Given the description of an element on the screen output the (x, y) to click on. 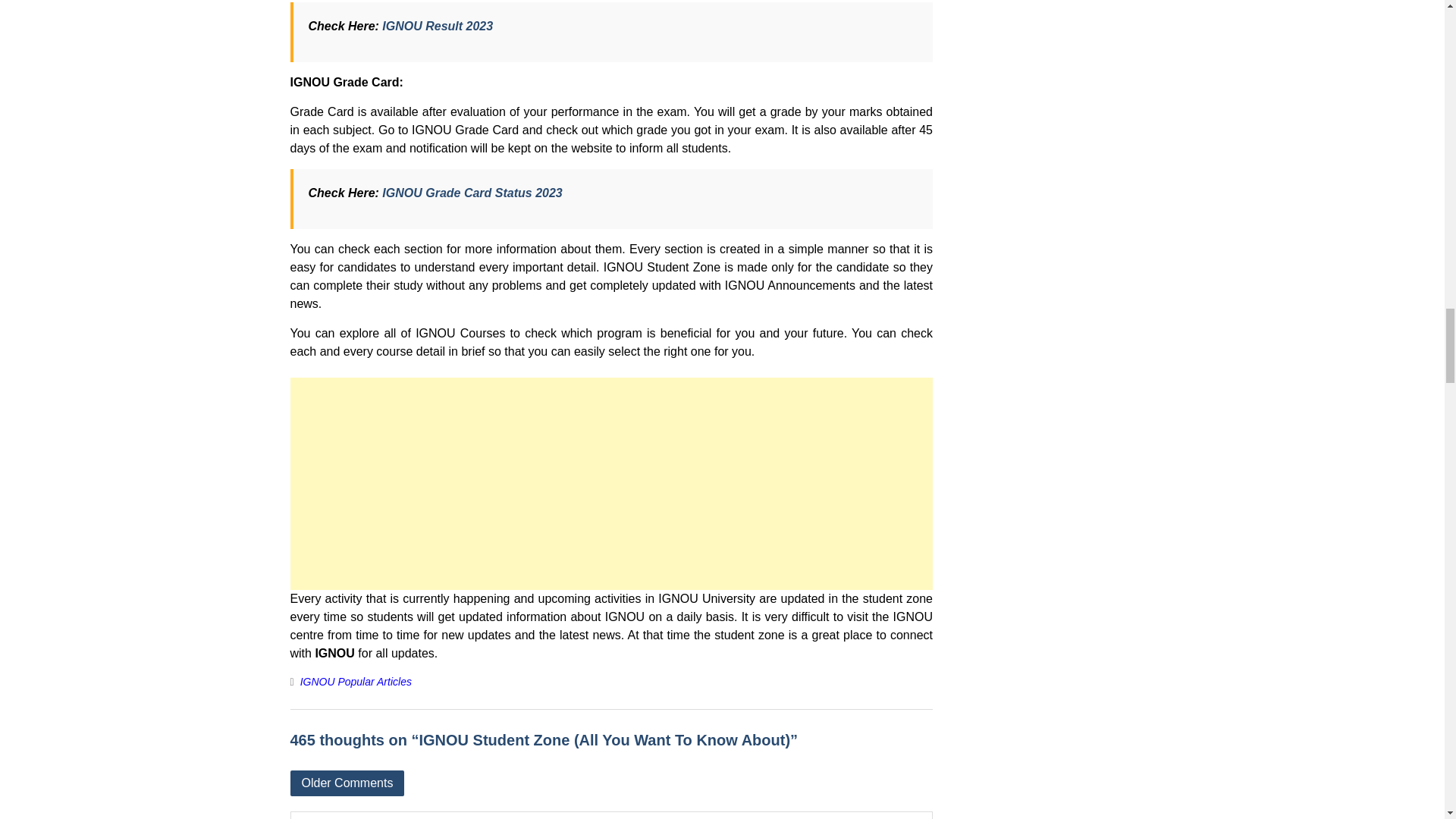
IGNOU Popular Articles (355, 681)
IGNOU Result 2023 (437, 25)
IGNOU Grade Card Status 2023 (471, 192)
Older Comments (346, 783)
